Given the description of an element on the screen output the (x, y) to click on. 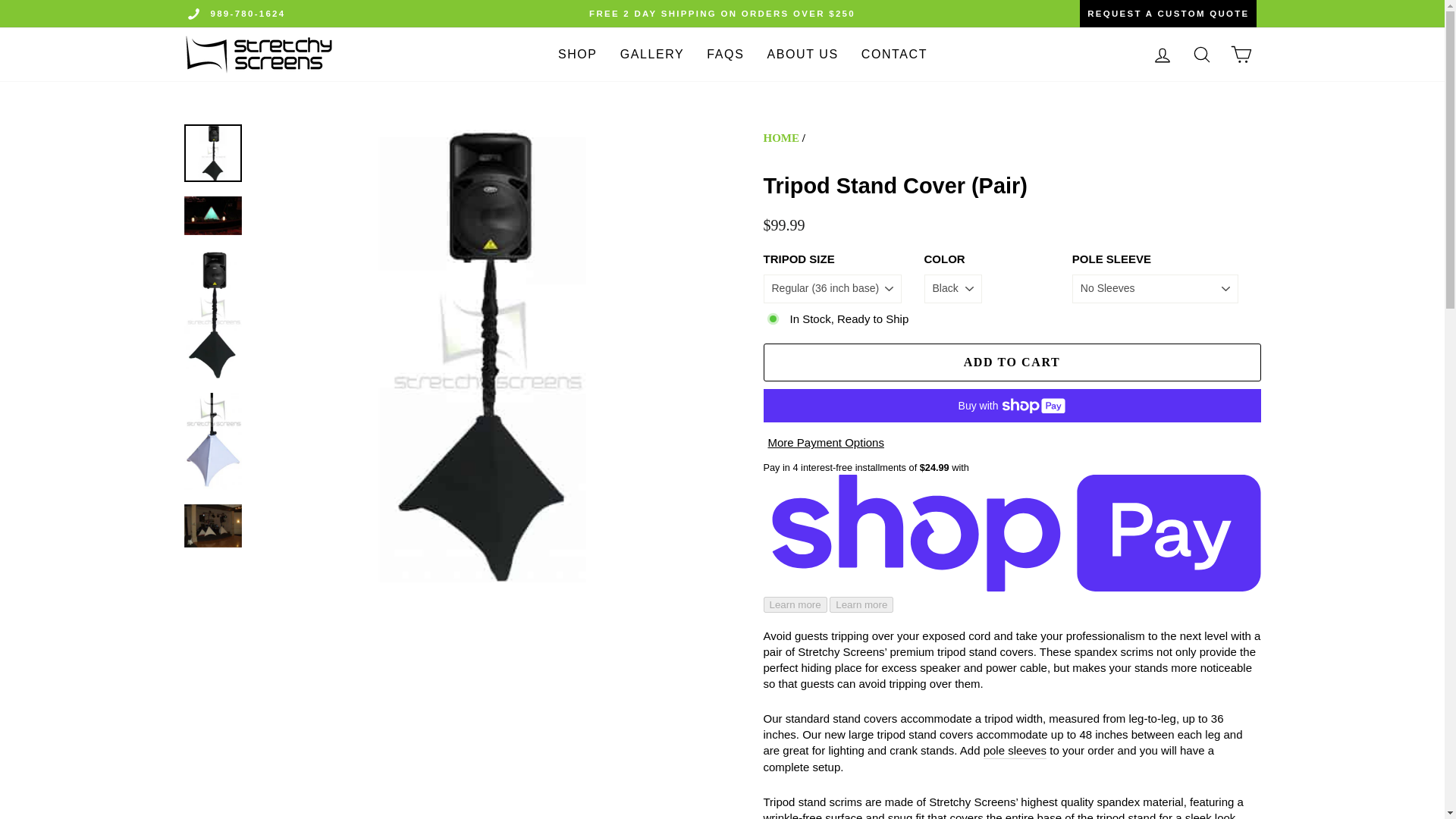
Back to the frontpage (780, 137)
989-780-1624 (248, 13)
REQUEST A CUSTOM QUOTE (1080, 13)
